Given the description of an element on the screen output the (x, y) to click on. 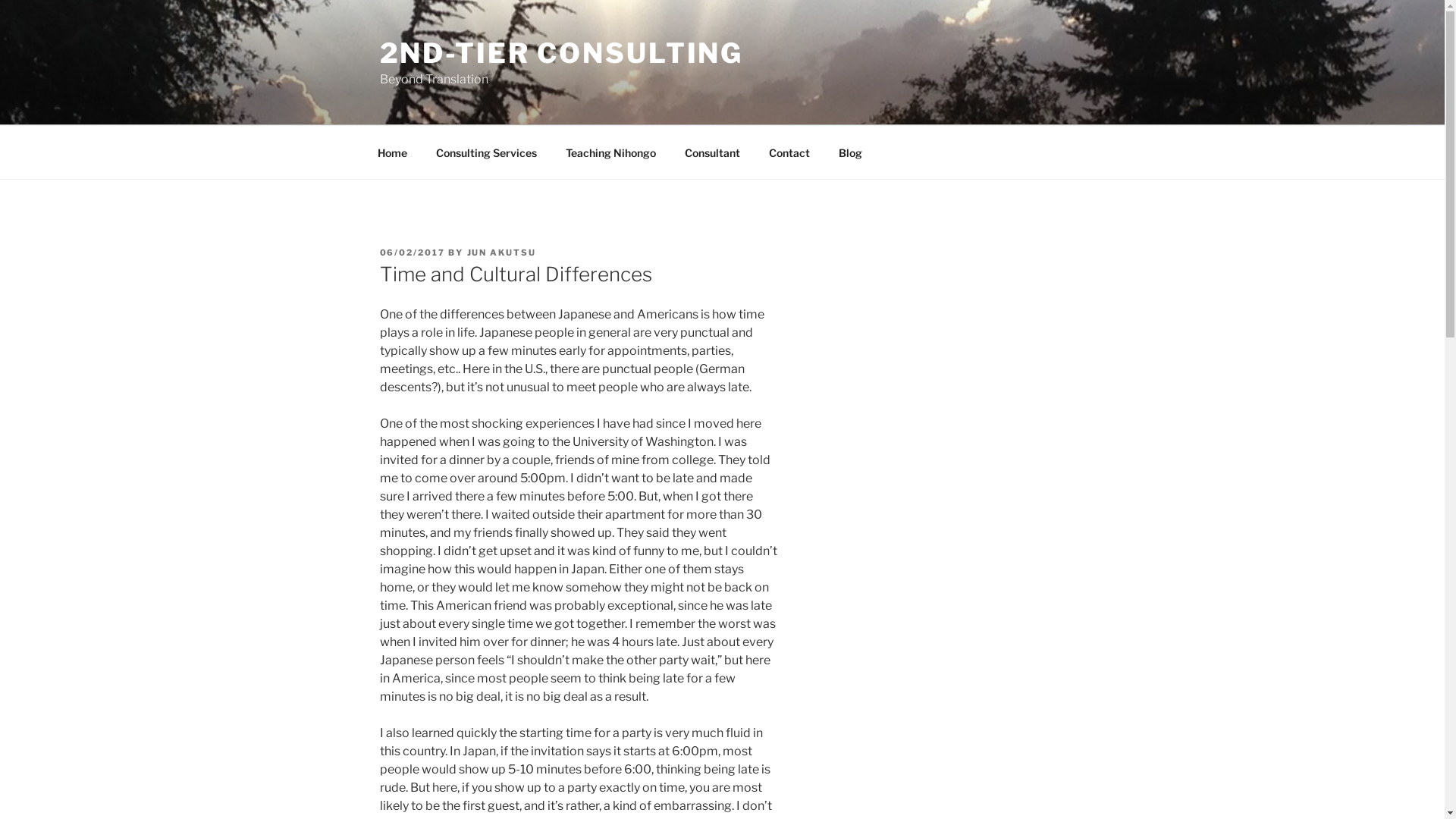
Consulting Services Element type: text (486, 151)
Skip to content Element type: text (0, 0)
2ND-TIER CONSULTING Element type: text (561, 52)
Teaching Nihongo Element type: text (610, 151)
Contact Element type: text (788, 151)
Home Element type: text (392, 151)
06/02/2017 Element type: text (412, 252)
Blog Element type: text (850, 151)
Consultant Element type: text (712, 151)
JUN AKUTSU Element type: text (501, 252)
